Given the description of an element on the screen output the (x, y) to click on. 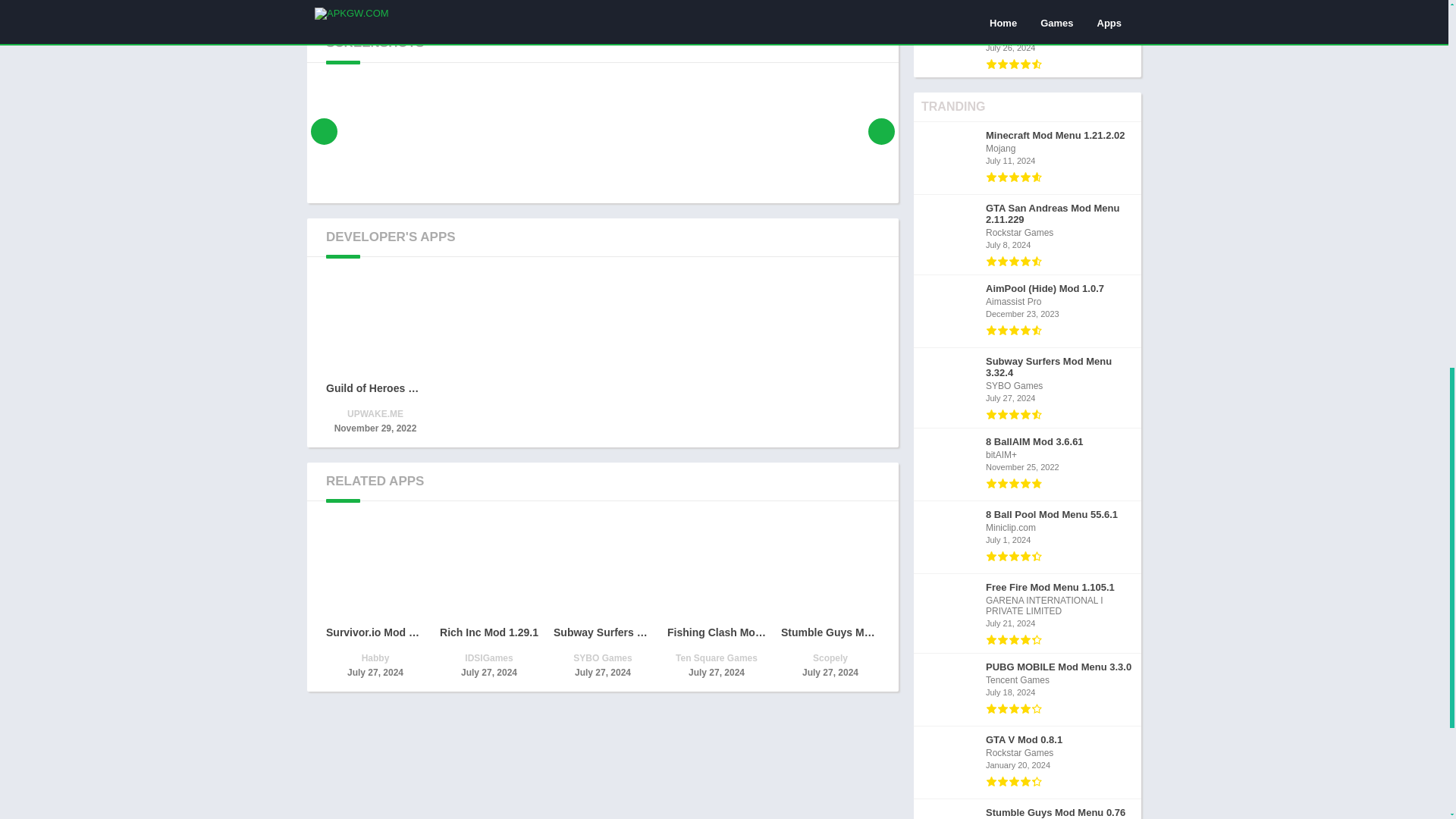
Fishing Clash Mod Menu 1.0.303 6 (715, 569)
Subway Surfers Mod Menu 3.32.4 5 (602, 569)
Rich Inc Mod 1.29.1 4 (488, 569)
Guild of Heroes Mod 1.142.5 2 (375, 325)
Survivor.io Mod Menu 3.0.0 3 (375, 569)
